Given the description of an element on the screen output the (x, y) to click on. 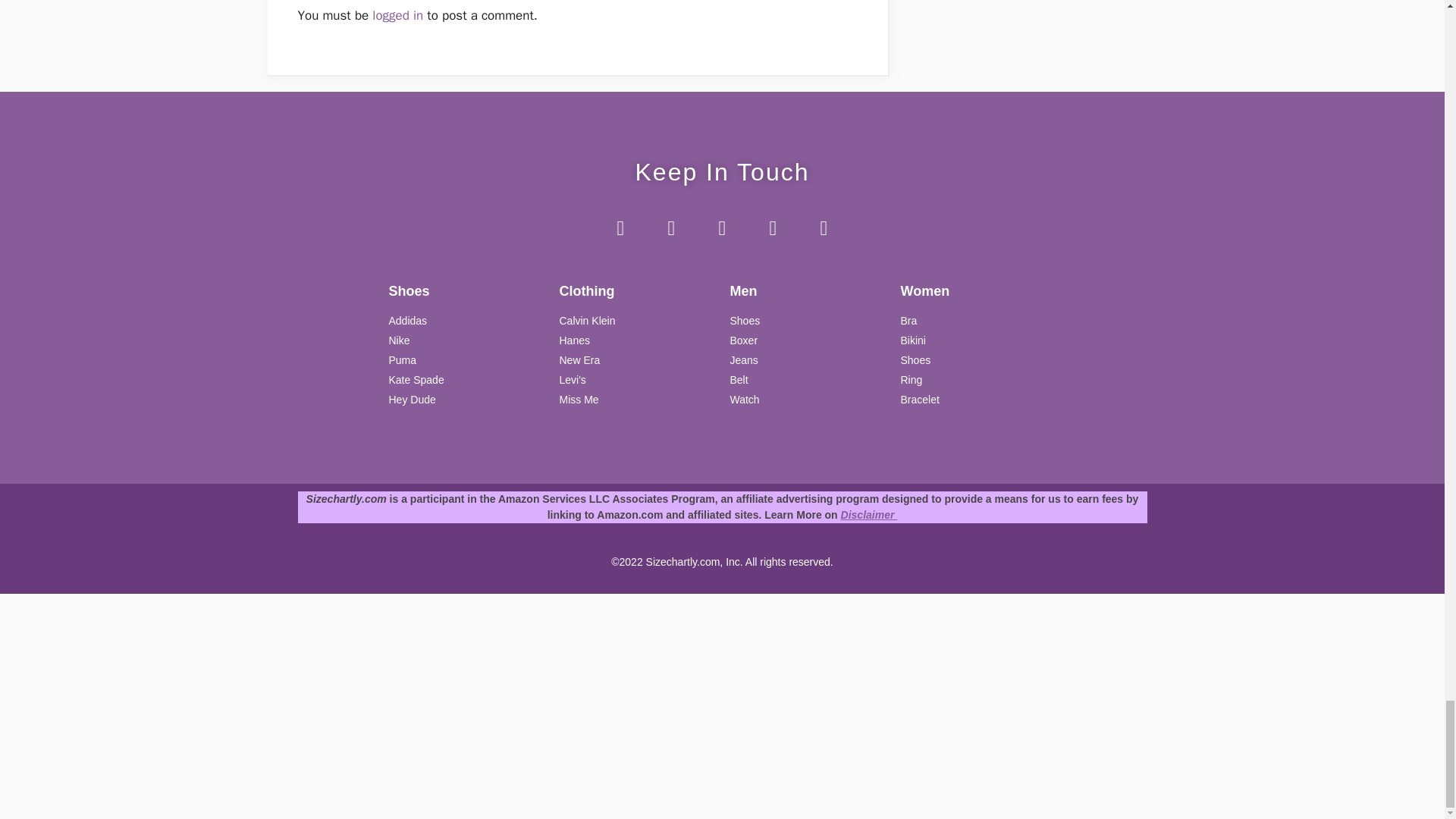
Kate Spade (465, 380)
Nike (465, 340)
Bra (979, 320)
Hey Dude (465, 399)
Jeans (807, 360)
Addidas (465, 320)
New Era (636, 360)
Calvin Klein (636, 320)
Levi's (636, 380)
Shoes (979, 360)
